Given the description of an element on the screen output the (x, y) to click on. 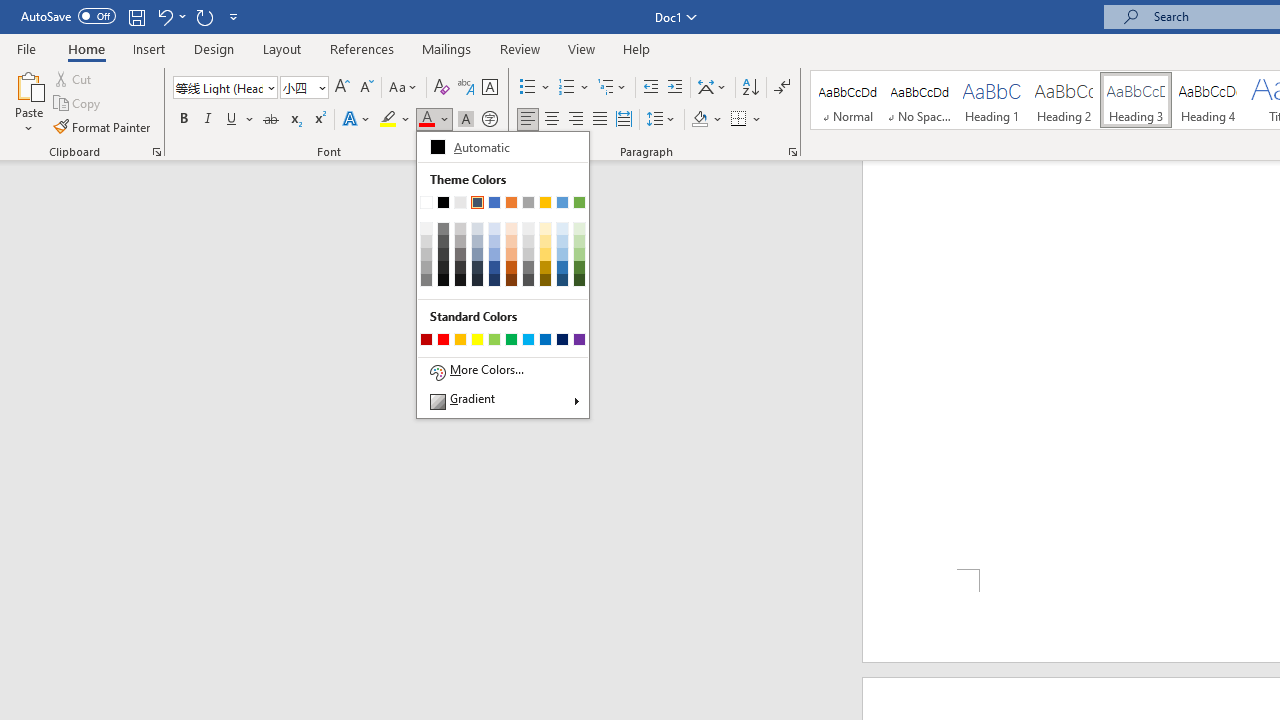
Mailings (447, 48)
Heading 3 (1135, 100)
Help (637, 48)
Italic (207, 119)
Show/Hide Editing Marks (781, 87)
Customize Quick Access Toolbar (234, 15)
AutoSave (68, 16)
Undo Apply Quick Style (170, 15)
Align Right (575, 119)
Paragraph... (792, 151)
Justify (599, 119)
Underline (239, 119)
Align Left (527, 119)
